Given the description of an element on the screen output the (x, y) to click on. 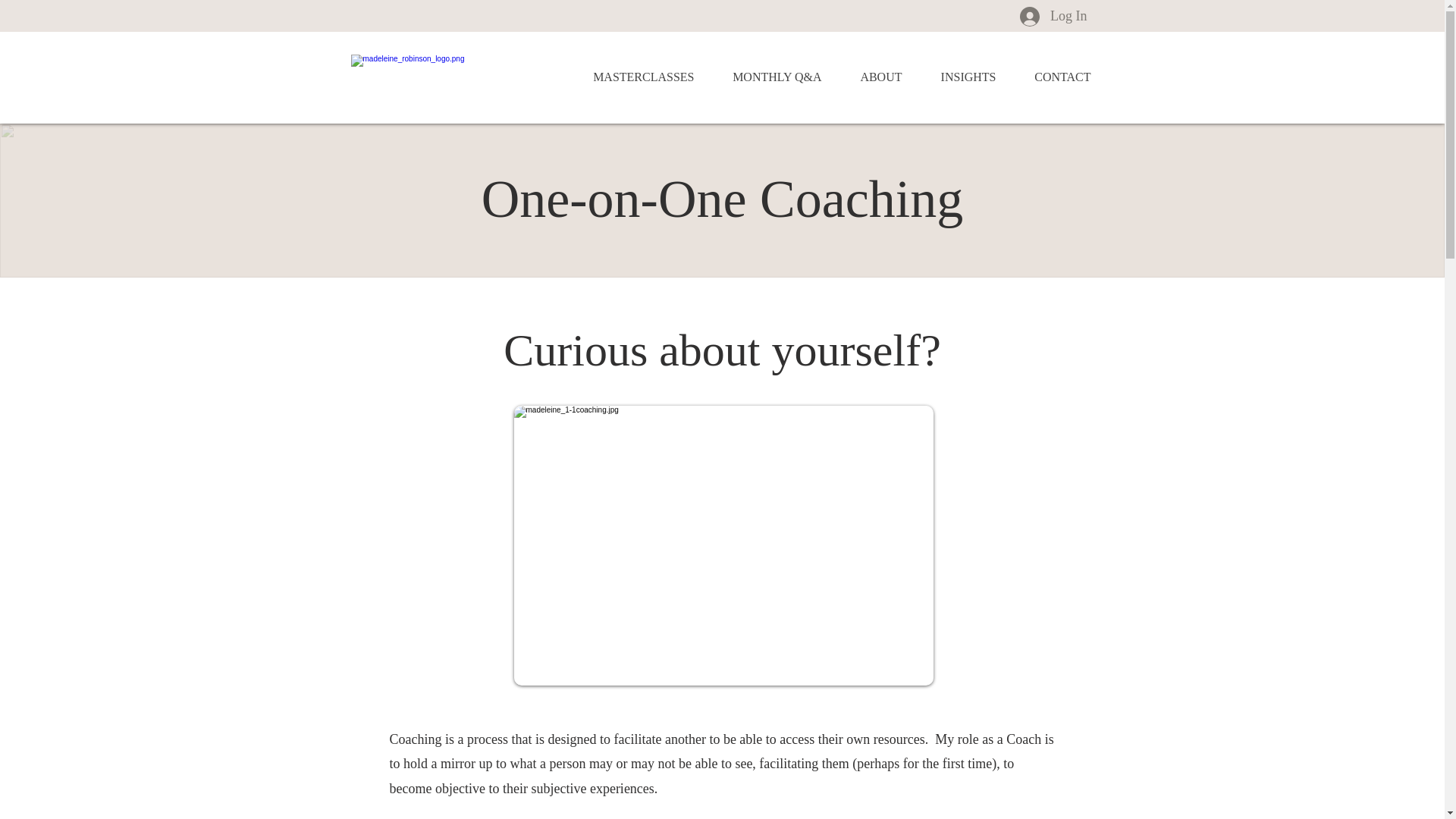
MONTHLY Q&A Element type: text (768, 76)
CONTACT Element type: text (1054, 76)
ABOUT Element type: text (872, 76)
Log In Element type: text (1053, 15)
INSIGHTS Element type: text (960, 76)
